Given the description of an element on the screen output the (x, y) to click on. 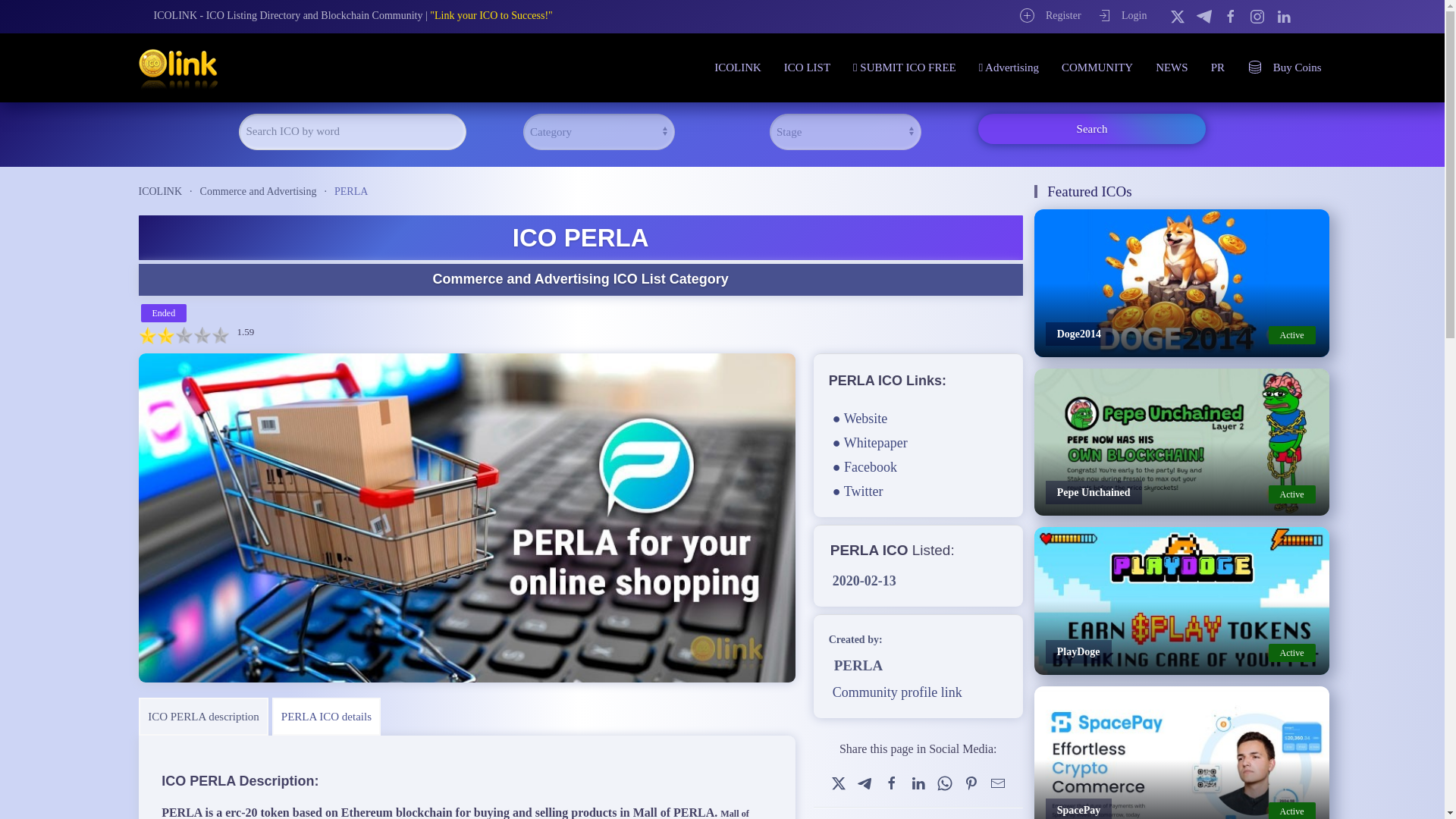
Facebook (1230, 15)
Login (1121, 15)
LinkedIN (1282, 15)
Instagram (1257, 15)
Twitter (838, 783)
Telegram (1203, 15)
Pinterest (970, 783)
Facebook (891, 783)
Twitter (1177, 15)
Linkedin (918, 783)
Register (1050, 15)
Telegram (864, 783)
Whatsapp (944, 783)
Email (998, 783)
